Given the description of an element on the screen output the (x, y) to click on. 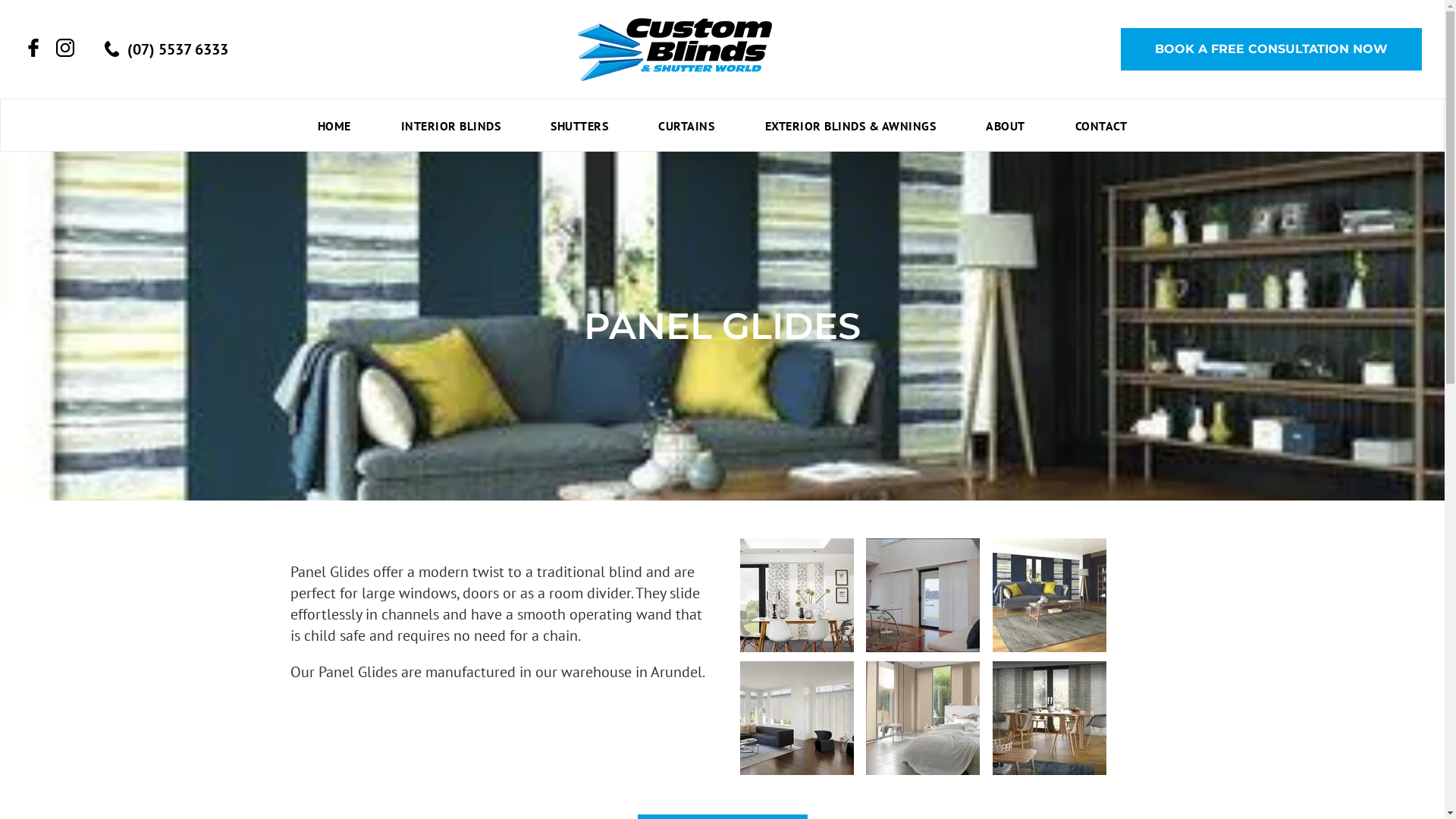
Custom Blinds Element type: hover (674, 49)
Indoor Panel Glides 5 Element type: hover (922, 718)
SHUTTERS Element type: text (579, 124)
Indoor Panel Glides 4 Element type: hover (796, 718)
EXTERIOR BLINDS & AWNINGS Element type: text (850, 124)
ABOUT Element type: text (1005, 124)
BOOK A FREE CONSULTATION NOW Element type: text (1270, 49)
(07) 5537 6333 Element type: text (166, 48)
CONTACT Element type: text (1101, 124)
facebook Element type: text (31, 47)
HOME Element type: text (333, 124)
instagram Element type: text (65, 47)
INTERIOR BLINDS Element type: text (450, 124)
Indoor Panel Glides 1 Element type: hover (796, 595)
Indoor Panel Glides 2 Element type: hover (922, 595)
CURTAINS Element type: text (686, 124)
Indoor Panel Glides 6 Element type: hover (1049, 718)
Indoor Panel Glides 3 Element type: hover (1049, 595)
